Given the description of an element on the screen output the (x, y) to click on. 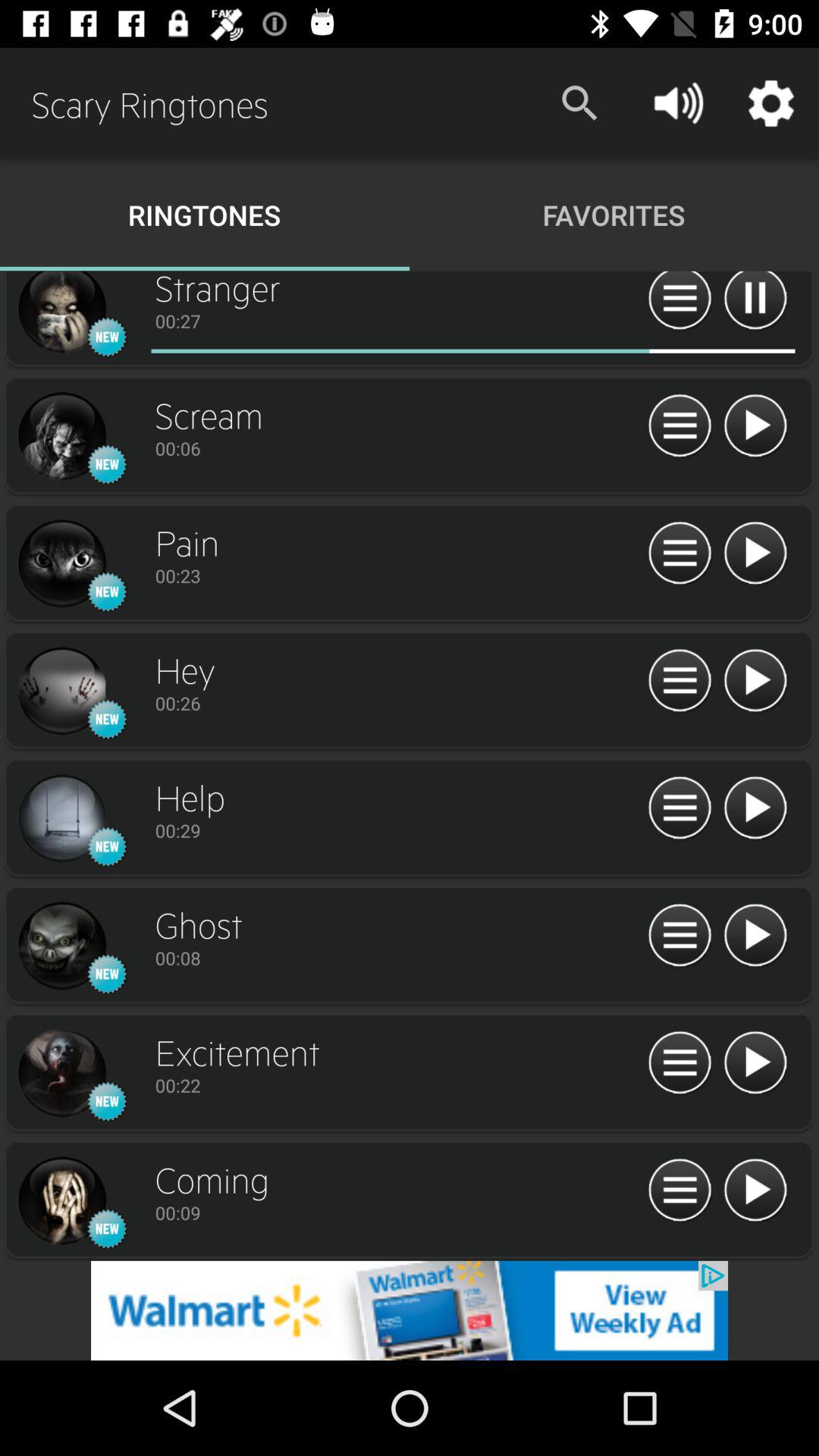
play track (755, 426)
